Given the description of an element on the screen output the (x, y) to click on. 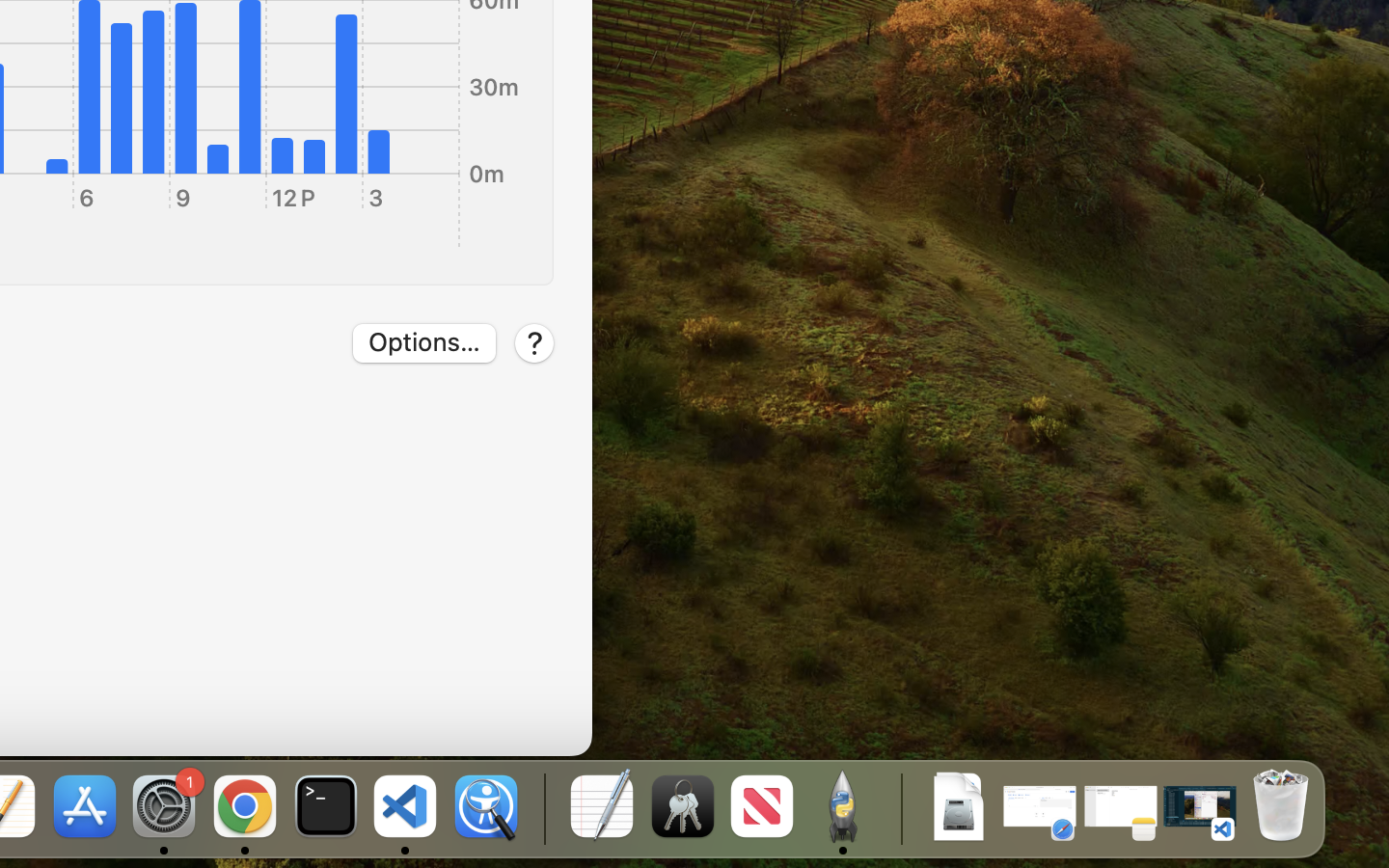
0.4285714328289032 Element type: AXDockItem (541, 807)
